Given the description of an element on the screen output the (x, y) to click on. 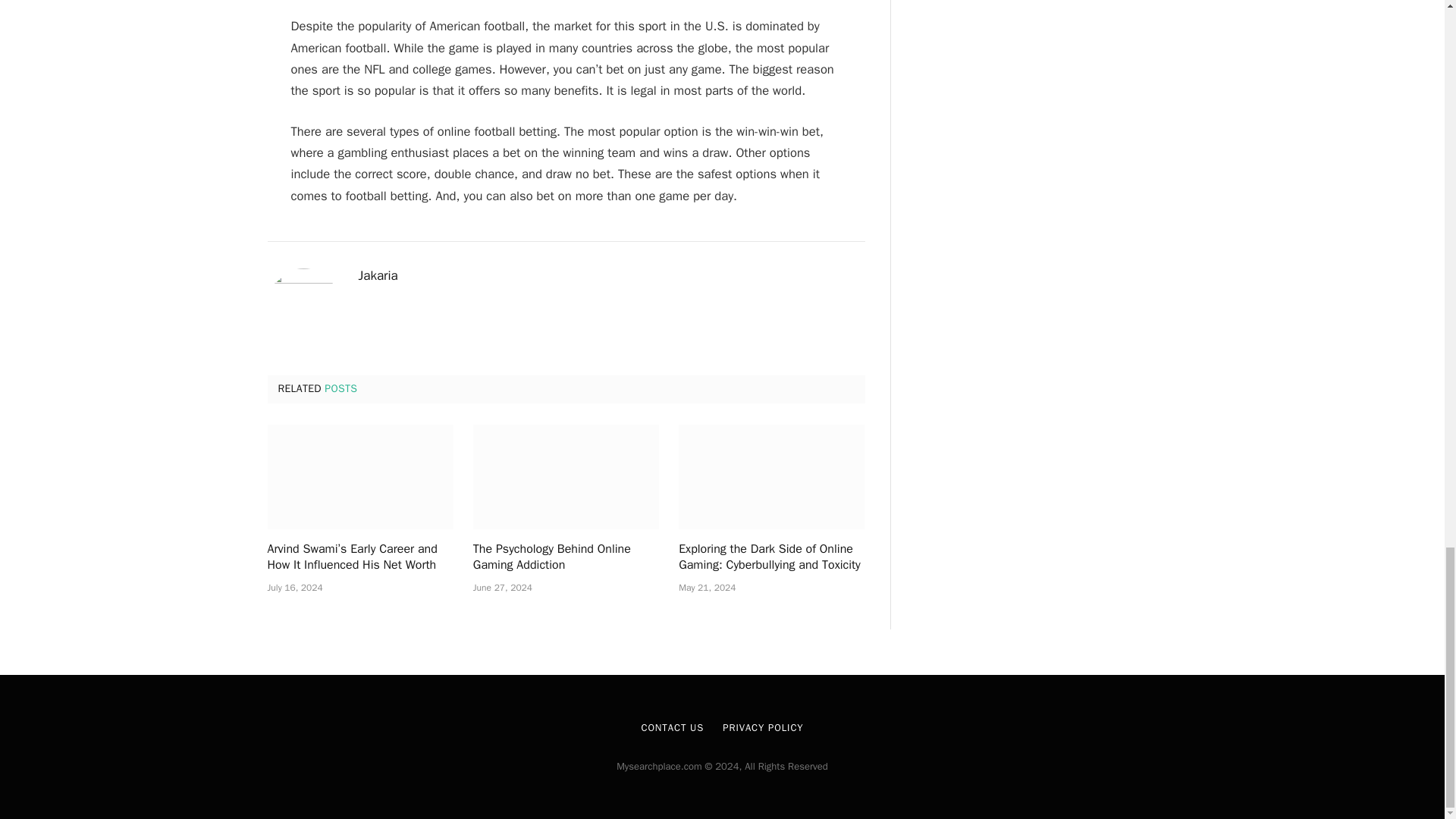
The Psychology Behind Online Gaming Addiction (566, 557)
Jakaria (377, 275)
Posts by Jakaria (377, 275)
The Psychology Behind Online Gaming Addiction (566, 477)
